Given the description of an element on the screen output the (x, y) to click on. 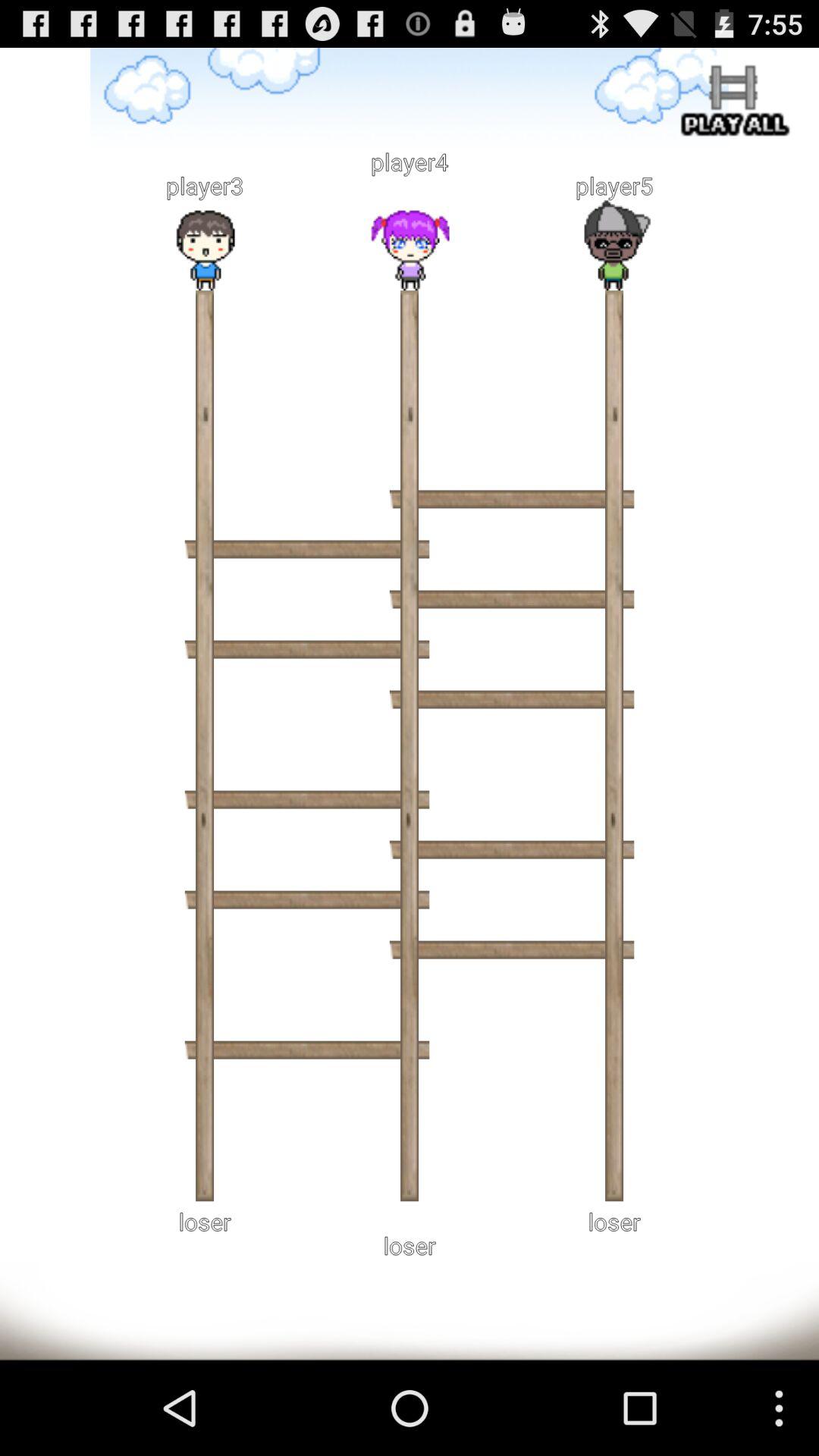
play all levels (732, 103)
